Given the description of an element on the screen output the (x, y) to click on. 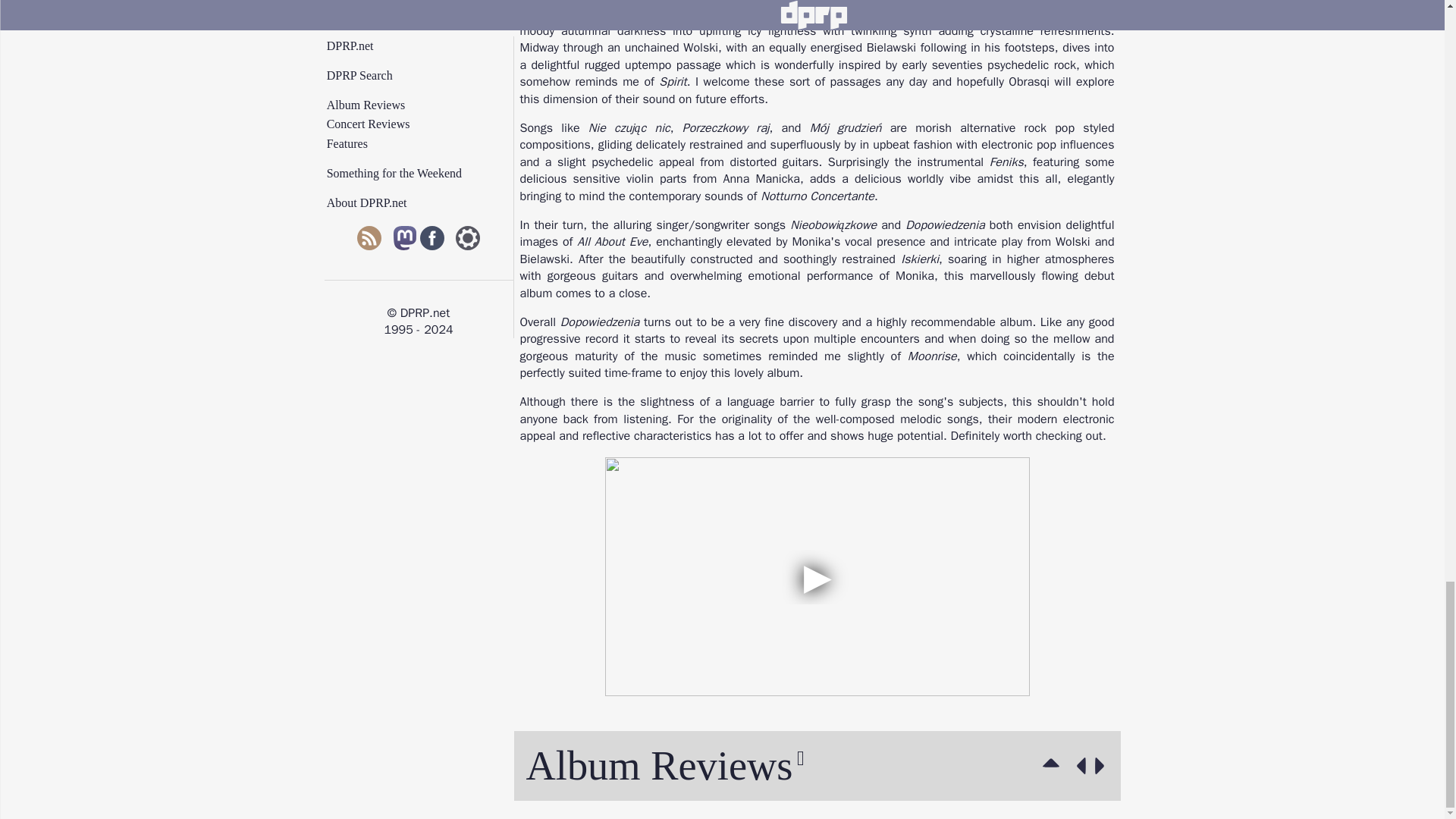
Issue 2021-129 (1102, 765)
Album Reviews (1053, 765)
Issue 2021-127 (1077, 765)
